Given the description of an element on the screen output the (x, y) to click on. 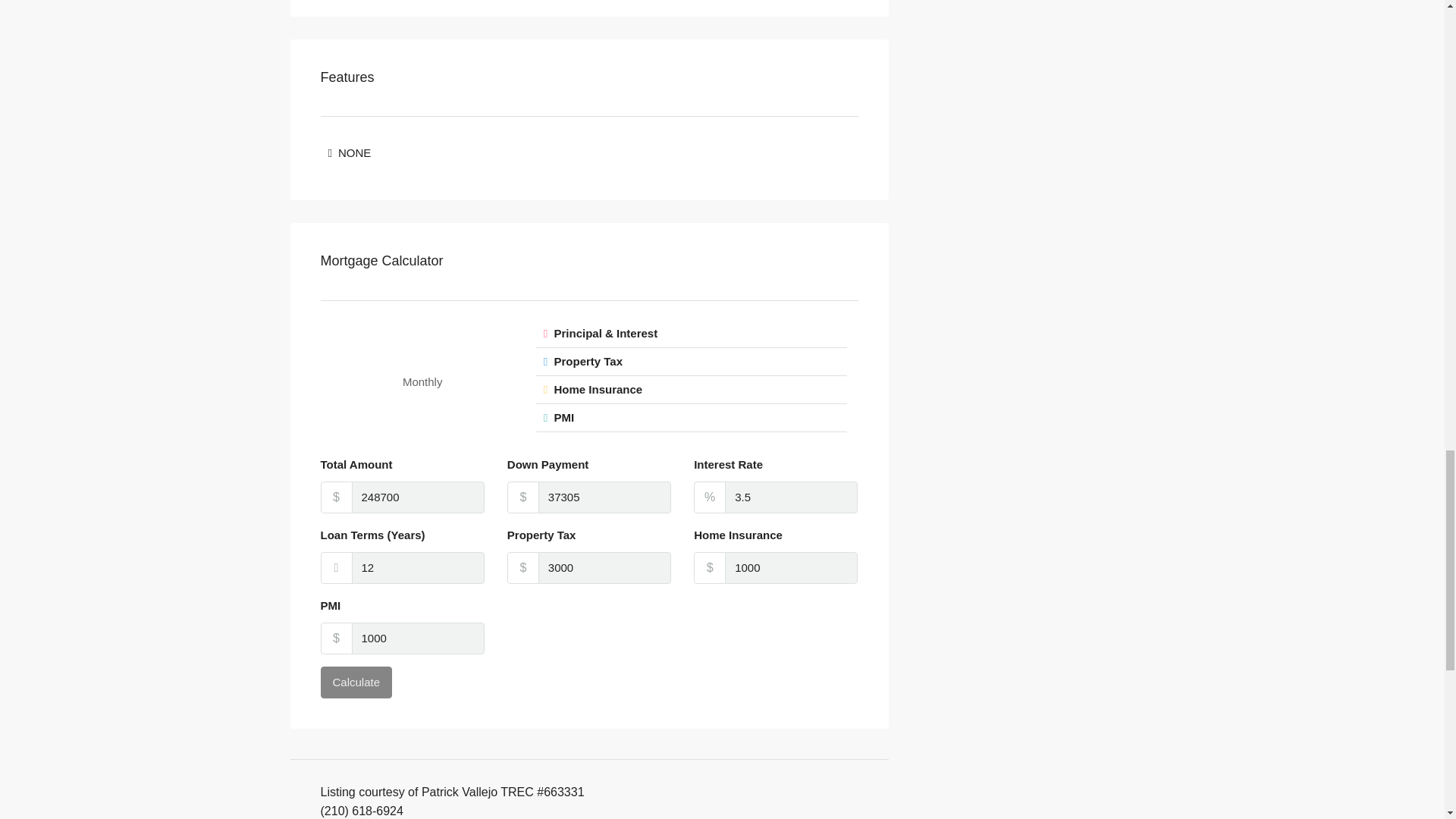
1000 (418, 638)
3.5 (791, 497)
12 (418, 567)
3000 (604, 567)
1000 (791, 567)
248700 (418, 497)
37305 (604, 497)
